Given the description of an element on the screen output the (x, y) to click on. 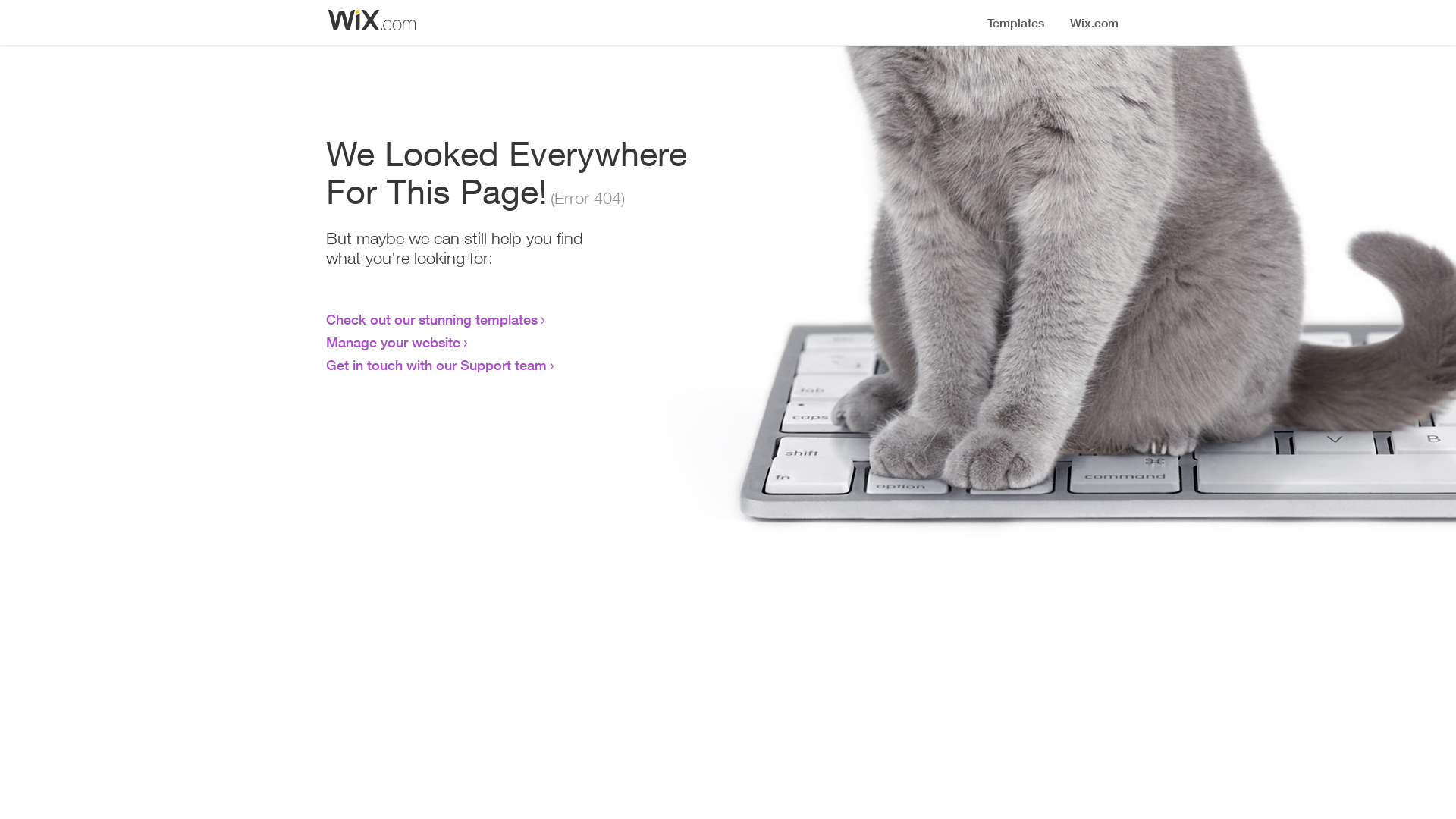
Check out our stunning templates Element type: text (431, 318)
Manage your website Element type: text (393, 341)
Get in touch with our Support team Element type: text (436, 364)
